Given the description of an element on the screen output the (x, y) to click on. 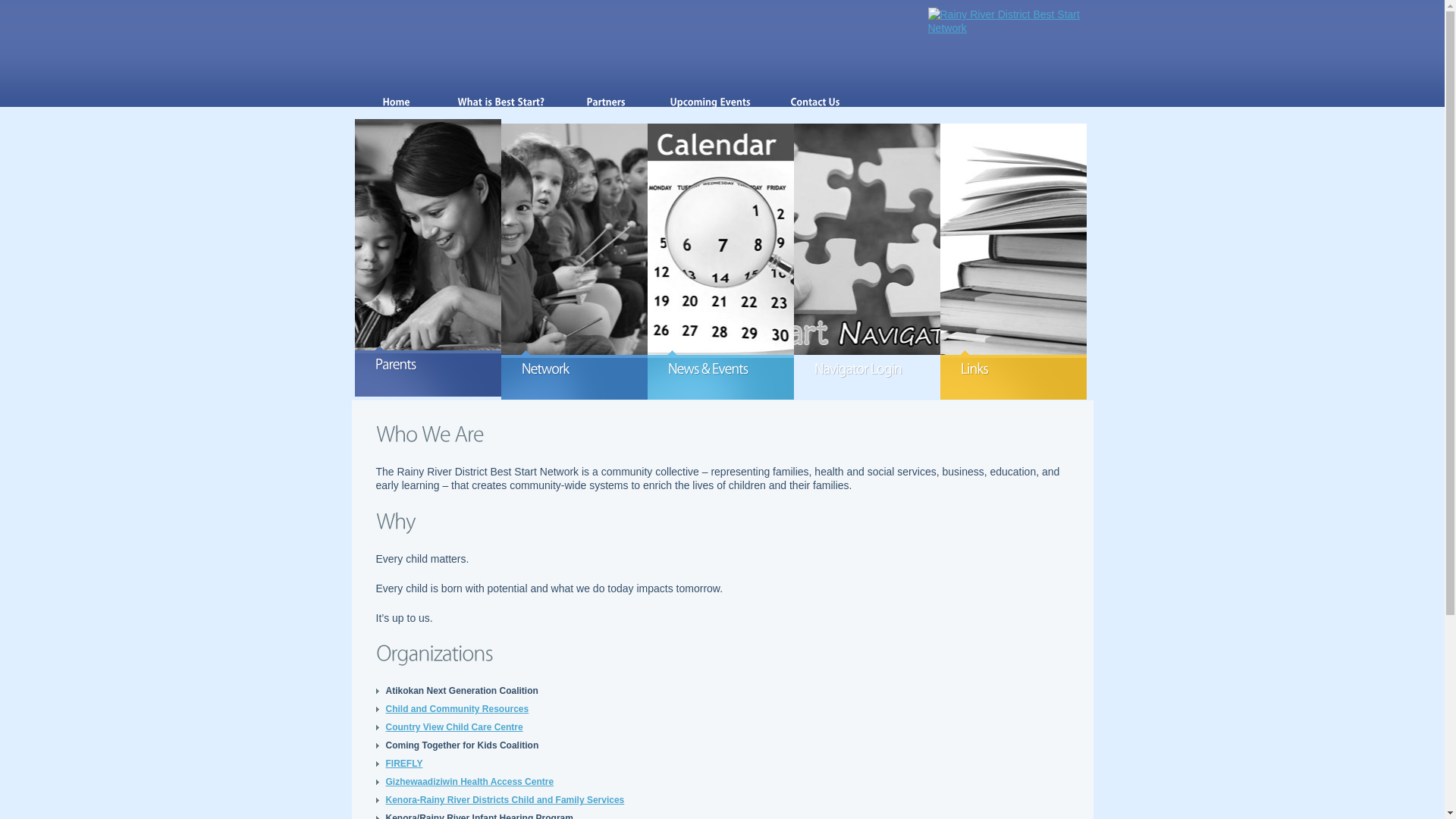
Country View Child Care Centre Element type: text (453, 726)
Best Start For Kids Element type: hover (1010, 20)
FIREFLY Element type: text (403, 763)
Gizhewaadiziwin Health Access Centre Element type: text (469, 781)
Kenora-Rainy River Districts Child and Family Services Element type: text (504, 799)
Child and Community Resources Element type: text (456, 708)
